Given the description of an element on the screen output the (x, y) to click on. 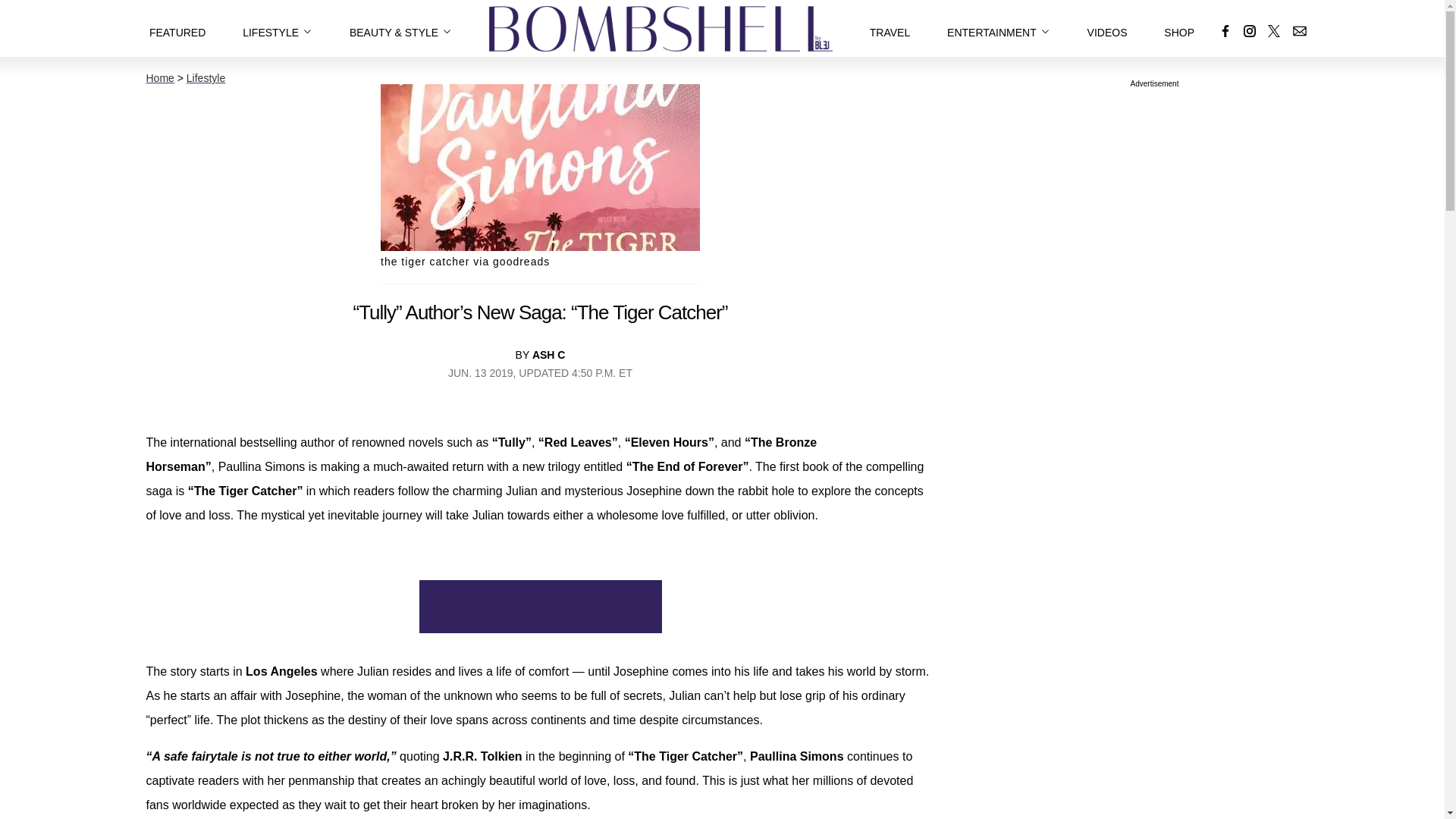
LINK TO INSTAGRAM (1249, 30)
TRAVEL (889, 27)
LINK TO EMAIL SUBSCRIBE (1299, 30)
LINK TO X (1273, 30)
LINK TO FACEBOOK (1225, 30)
FEATURED (177, 27)
VIDEOS (1106, 27)
